Given the description of an element on the screen output the (x, y) to click on. 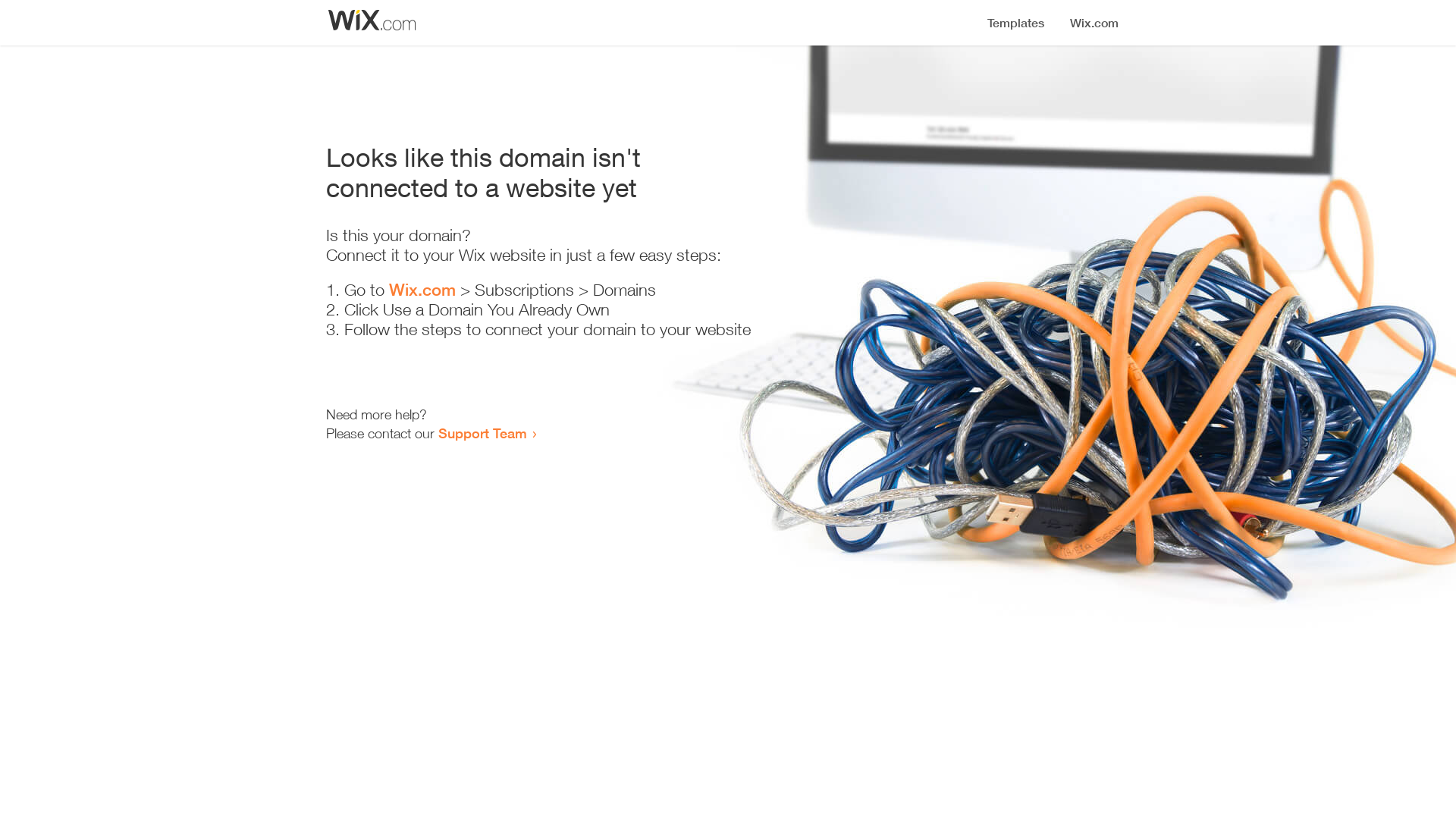
Wix.com Element type: text (422, 289)
Support Team Element type: text (482, 432)
